Given the description of an element on the screen output the (x, y) to click on. 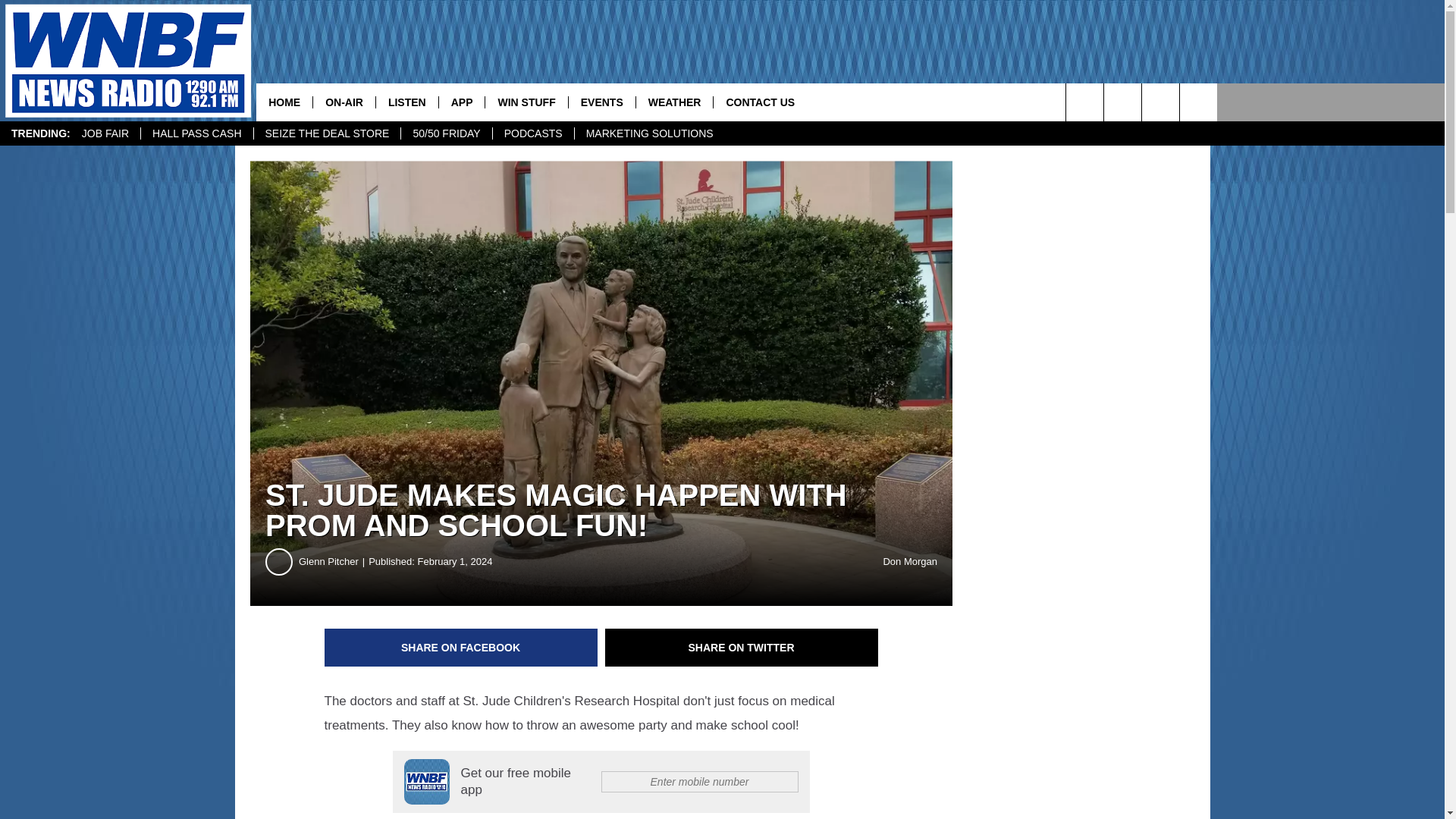
APP (461, 102)
LISTEN (406, 102)
CONTACT US (759, 102)
SEIZE THE DEAL STORE (327, 133)
MARKETING SOLUTIONS (649, 133)
HALL PASS CASH (196, 133)
Share on Facebook (460, 647)
PODCASTS (532, 133)
ON-AIR (344, 102)
WIN STUFF (525, 102)
